Given the description of an element on the screen output the (x, y) to click on. 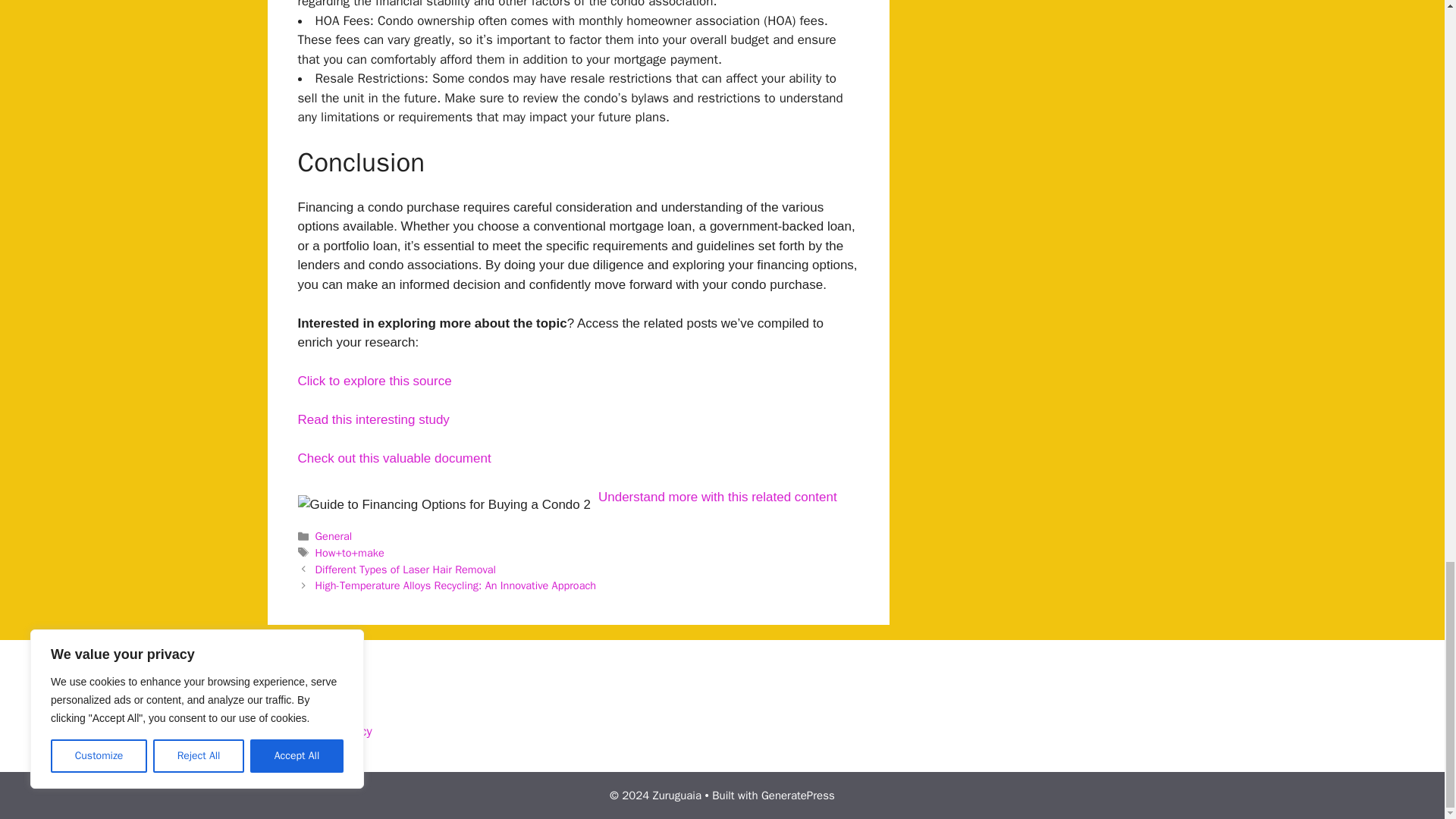
High-Temperature Alloys Recycling: An Innovative Approach (455, 585)
Different Types of Laser Hair Removal (405, 569)
General (333, 535)
Read this interesting study (372, 419)
Check out this valuable document (393, 458)
Understand more with this related content (717, 496)
Click to explore this source (374, 380)
